Given the description of an element on the screen output the (x, y) to click on. 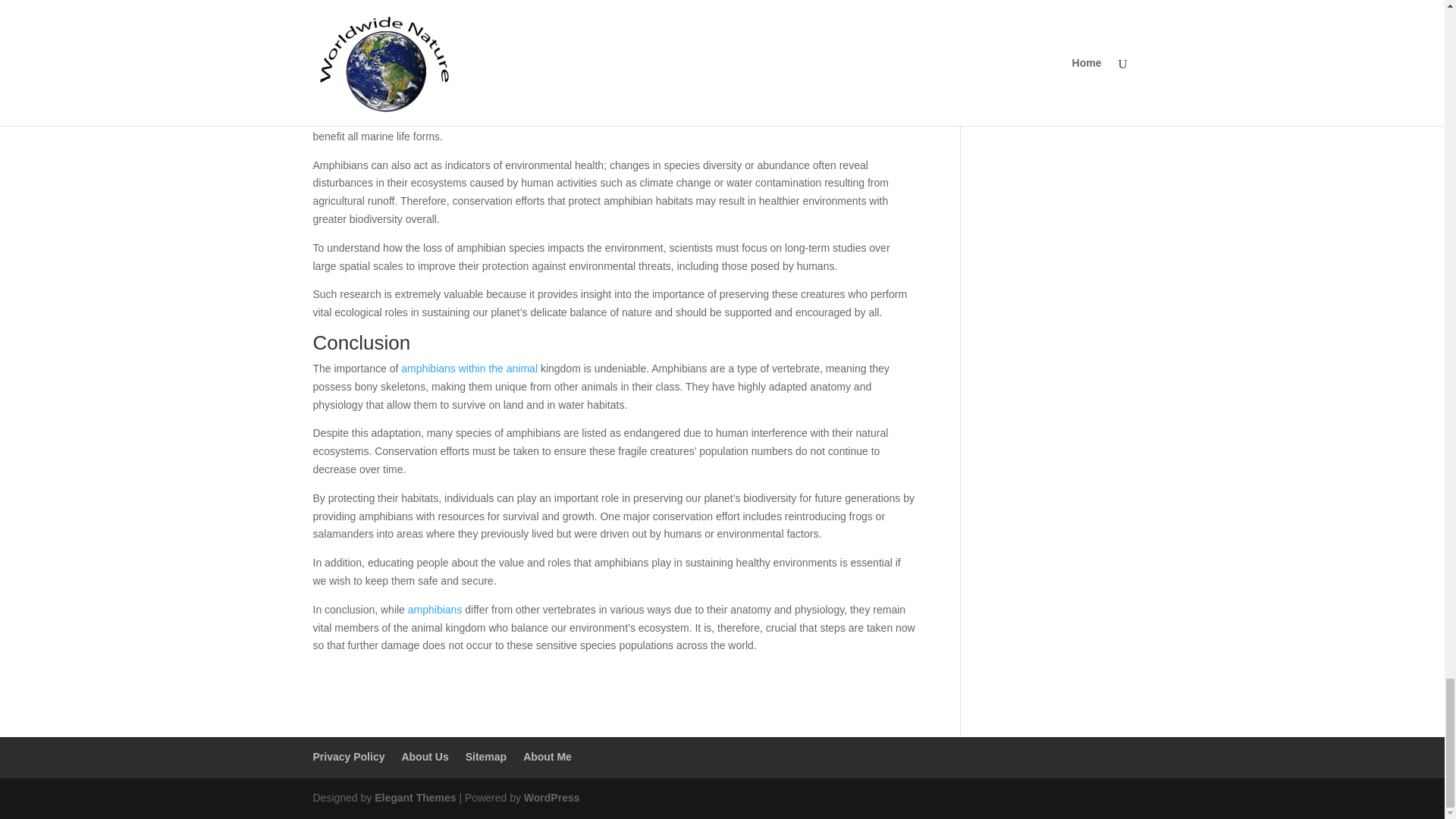
mammals (640, 17)
Privacy Policy (348, 756)
About Me (547, 756)
Premium WordPress Themes (414, 797)
amphibians (435, 609)
mammals (640, 17)
WordPress (551, 797)
amphibians within the animal (469, 368)
About Us (424, 756)
Sitemap (485, 756)
